Given the description of an element on the screen output the (x, y) to click on. 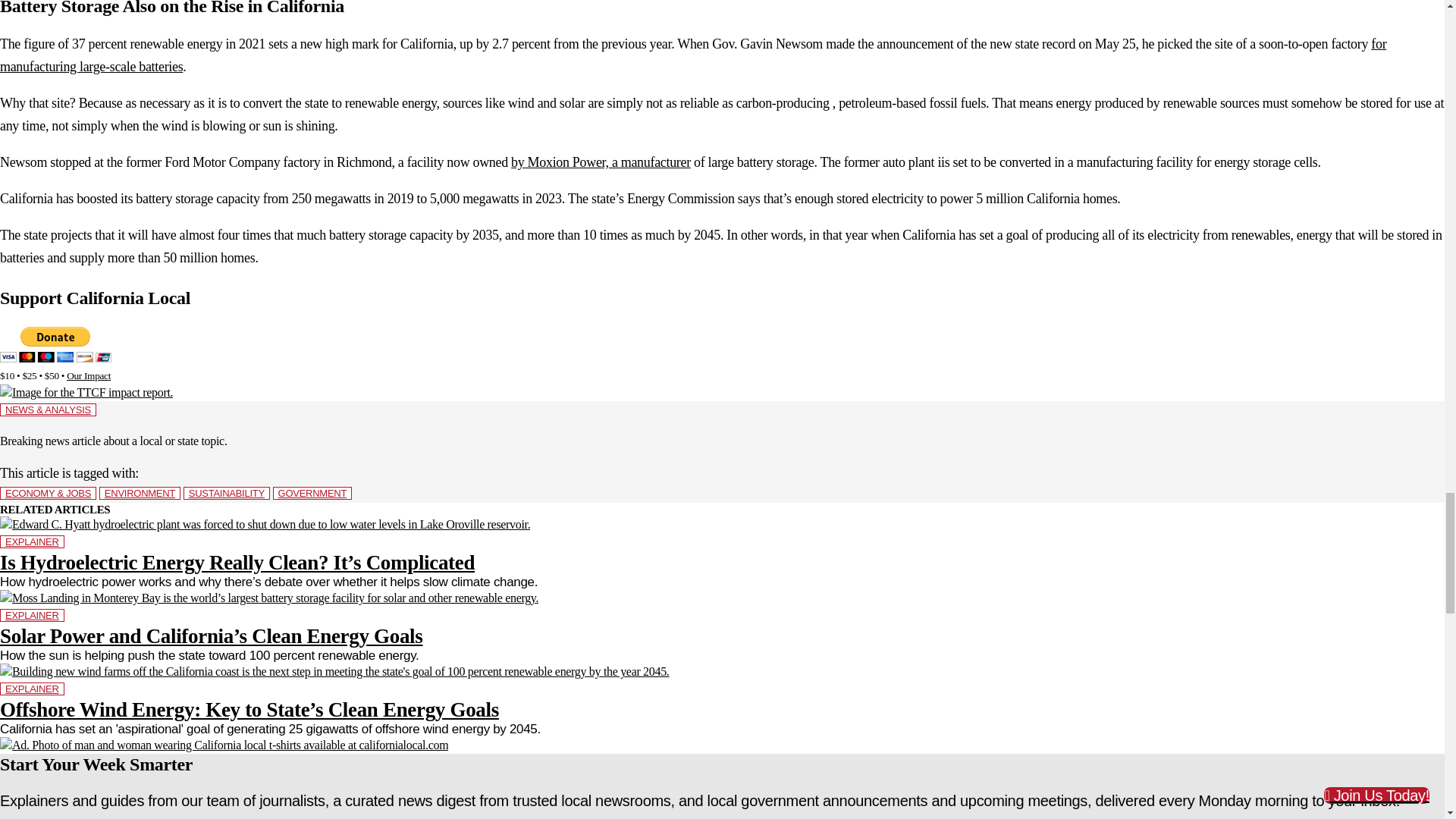
PayPal - The safer, easier way to pay online! (56, 344)
